Given the description of an element on the screen output the (x, y) to click on. 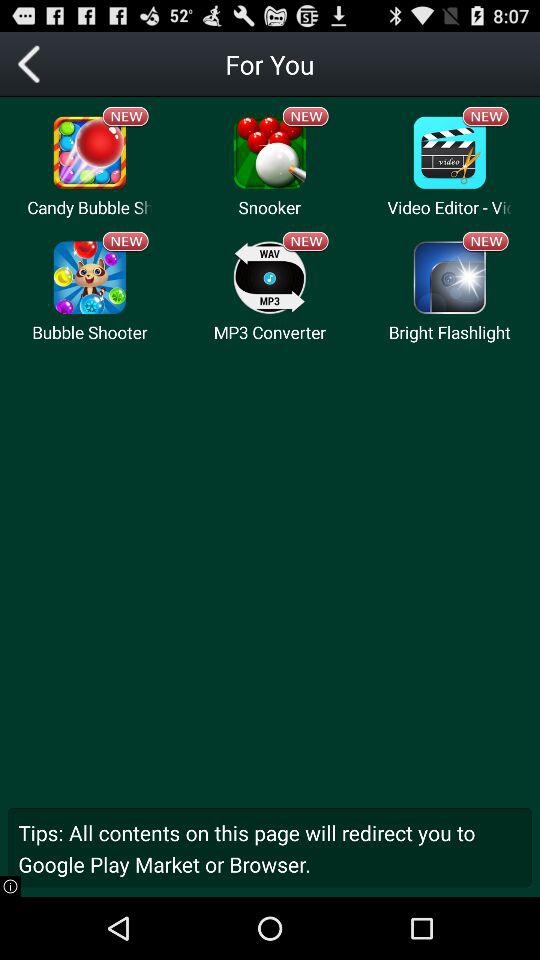
previous screen (32, 64)
